Given the description of an element on the screen output the (x, y) to click on. 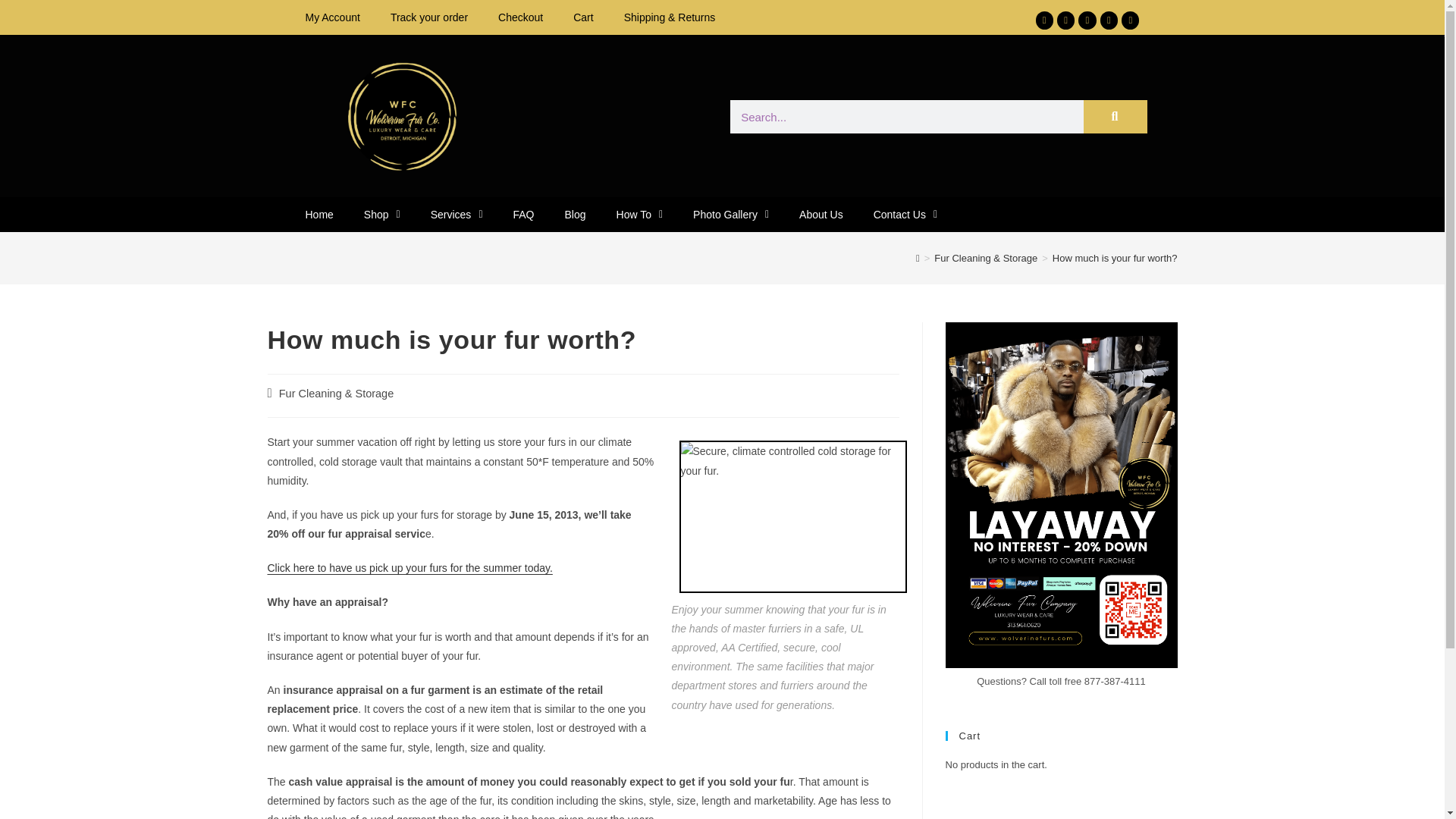
How To (639, 214)
RSS Feed: Wolverine Furs Posts (1133, 801)
My Account (331, 17)
Cart (582, 17)
Services (455, 214)
Blog (575, 214)
Wolverine Fur Company Climate Controlled Cold Storage vault. (793, 516)
Log In (981, 801)
Home (318, 214)
Service Order Form (408, 567)
